Given the description of an element on the screen output the (x, y) to click on. 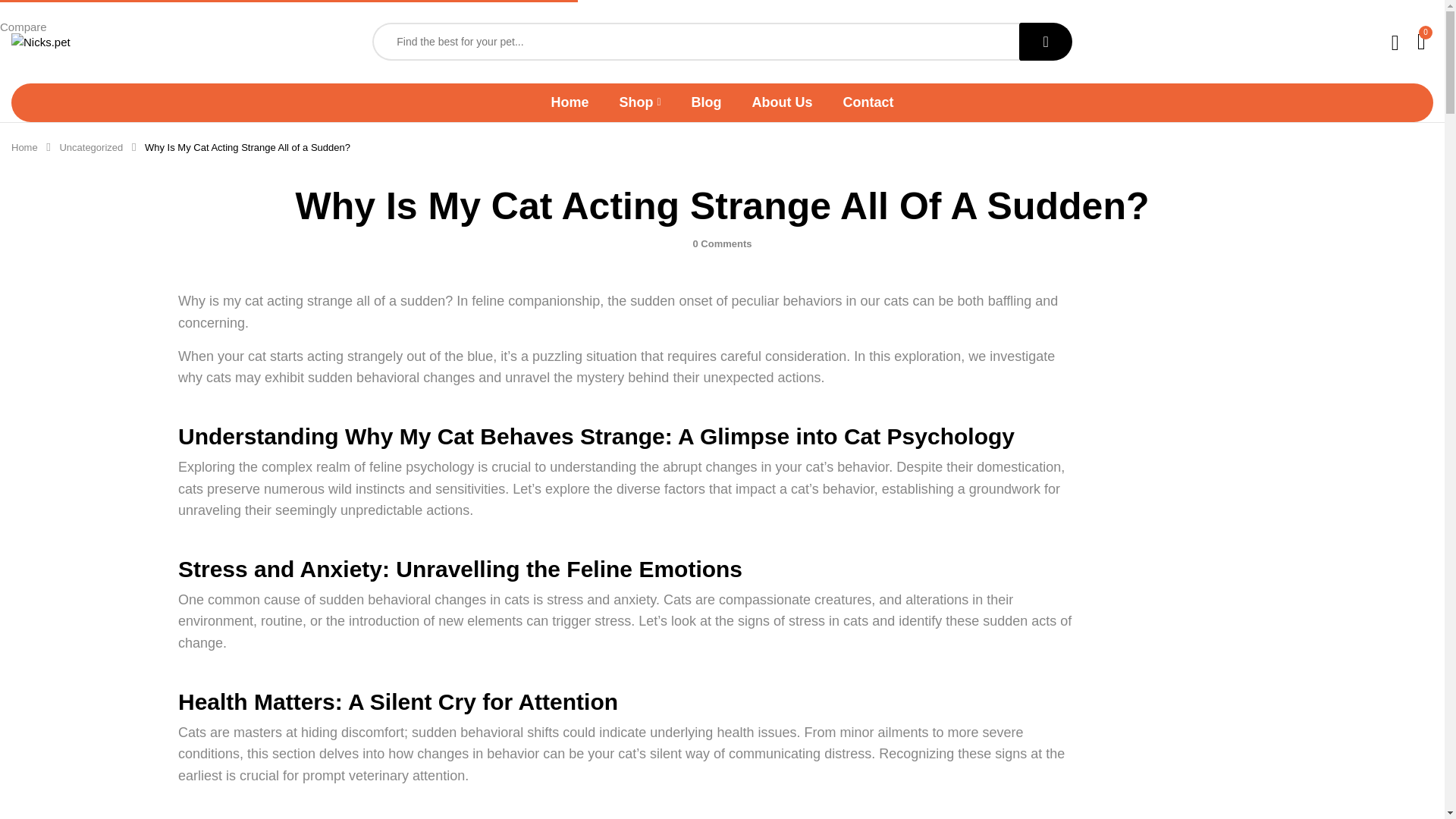
Home (24, 147)
Home (569, 102)
About Us (782, 102)
0 Comments (722, 243)
Uncategorized (90, 147)
Shop (639, 102)
Contact (868, 102)
Blog (706, 102)
search (1045, 41)
